Given the description of an element on the screen output the (x, y) to click on. 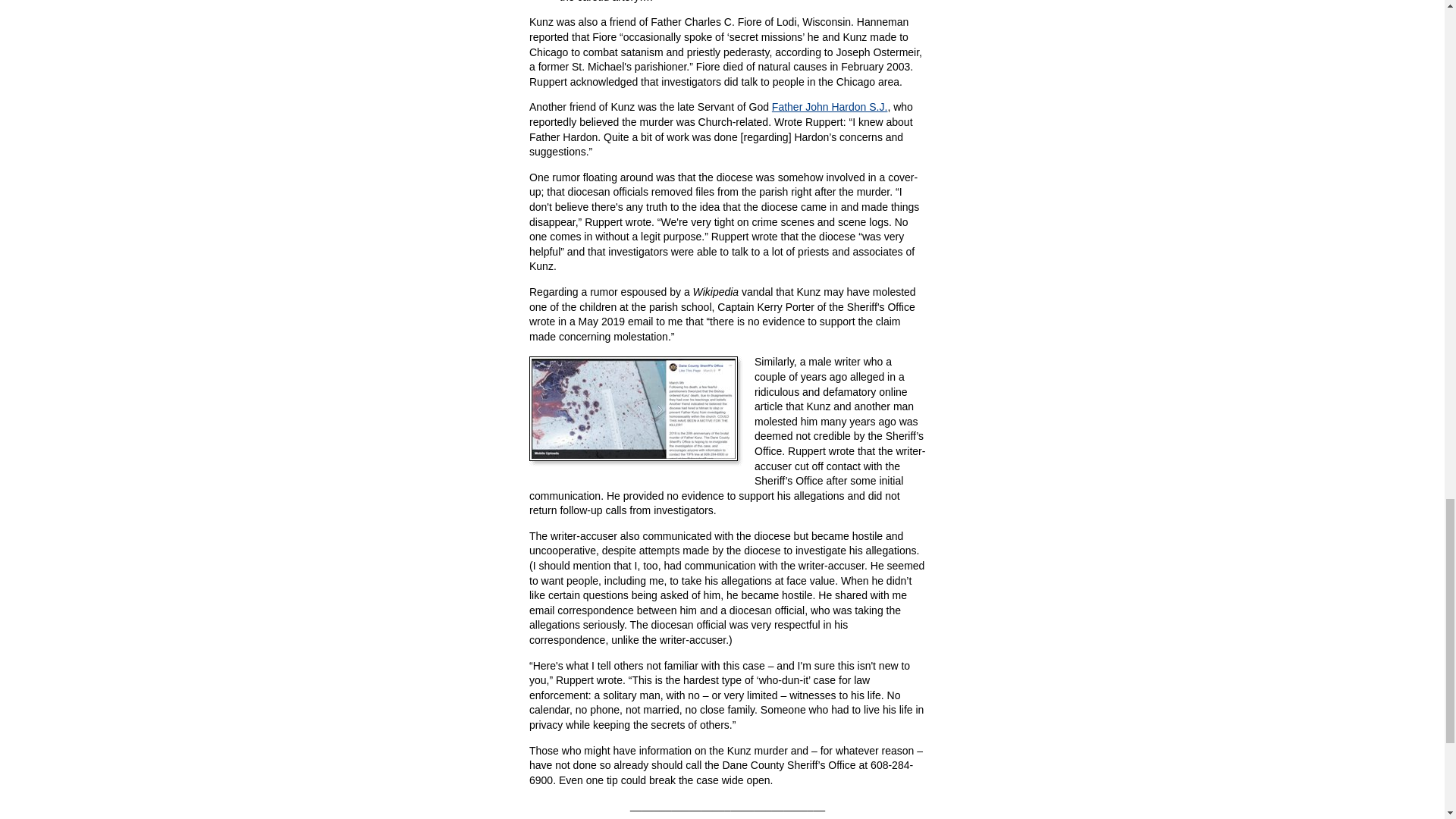
Father John Hardon S.J. (829, 106)
